Given the description of an element on the screen output the (x, y) to click on. 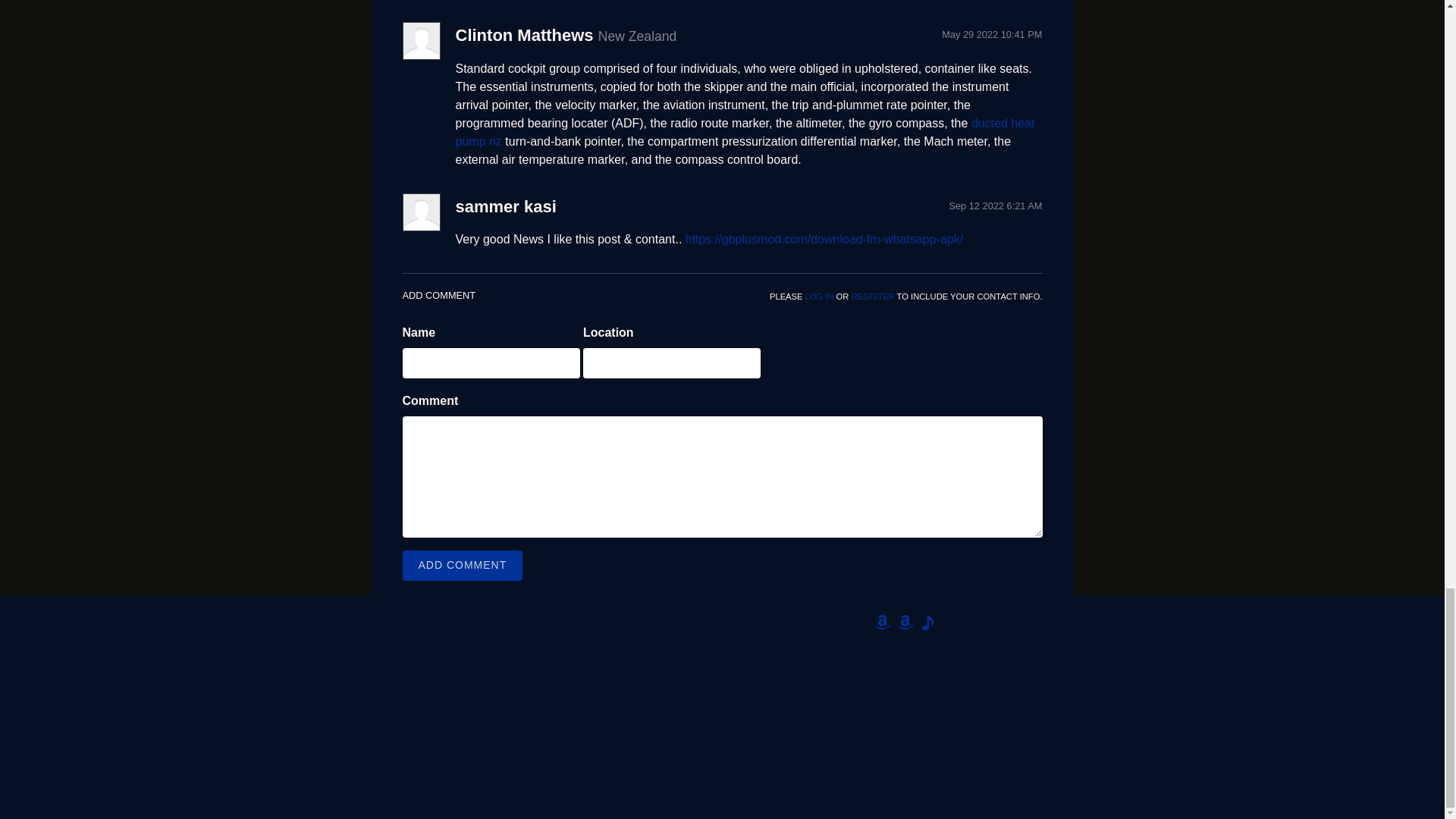
ducted heat pump nz (743, 132)
